Given the description of an element on the screen output the (x, y) to click on. 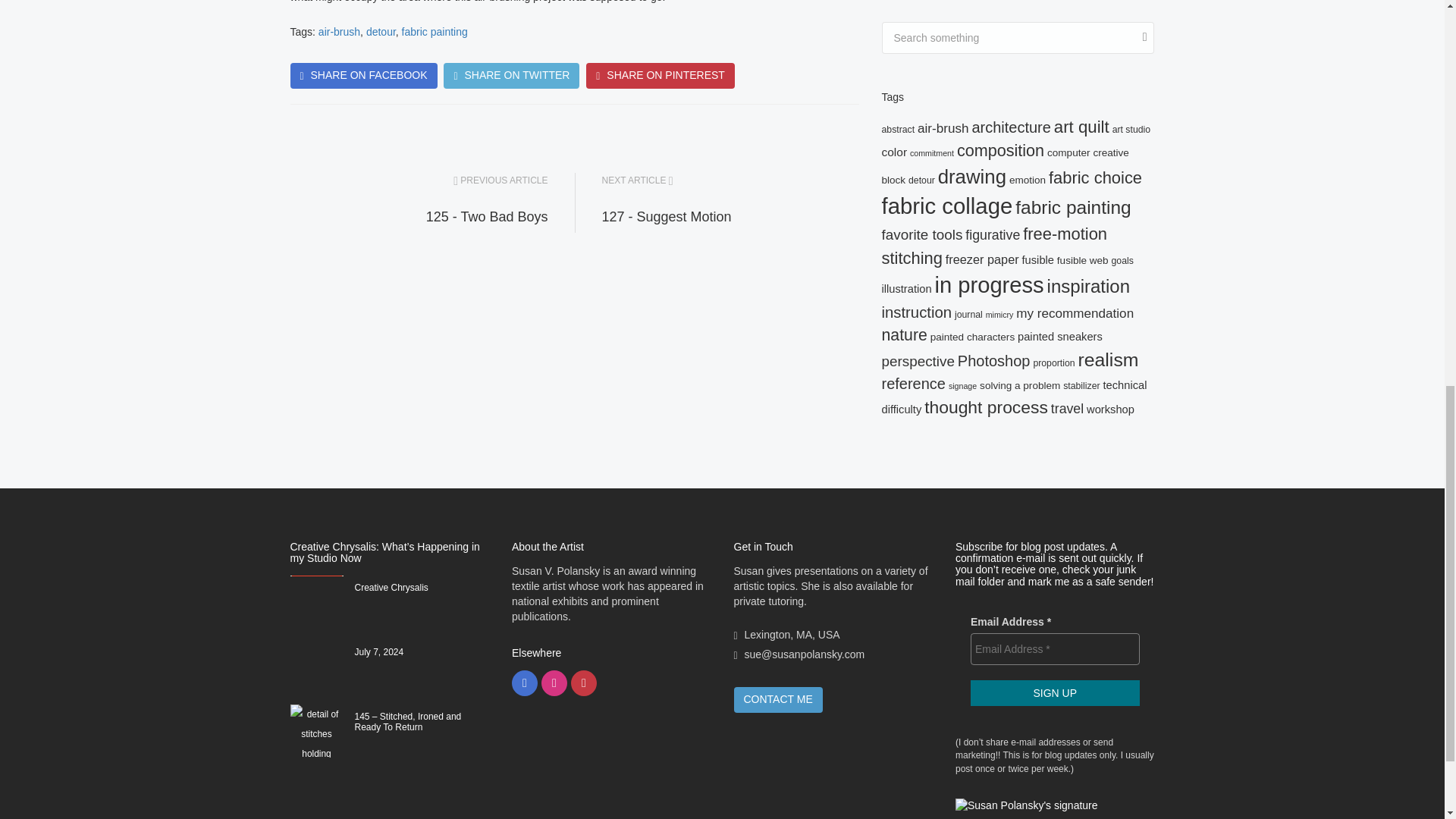
air-brush (338, 31)
125 - Two Bad Boys (487, 216)
detour (381, 31)
SHARE ON PINTEREST (660, 75)
abstract (897, 129)
Email Address (1055, 649)
SIGN UP (1055, 692)
art quilt (1081, 126)
fabric painting (434, 31)
air-brush (942, 128)
